Given the description of an element on the screen output the (x, y) to click on. 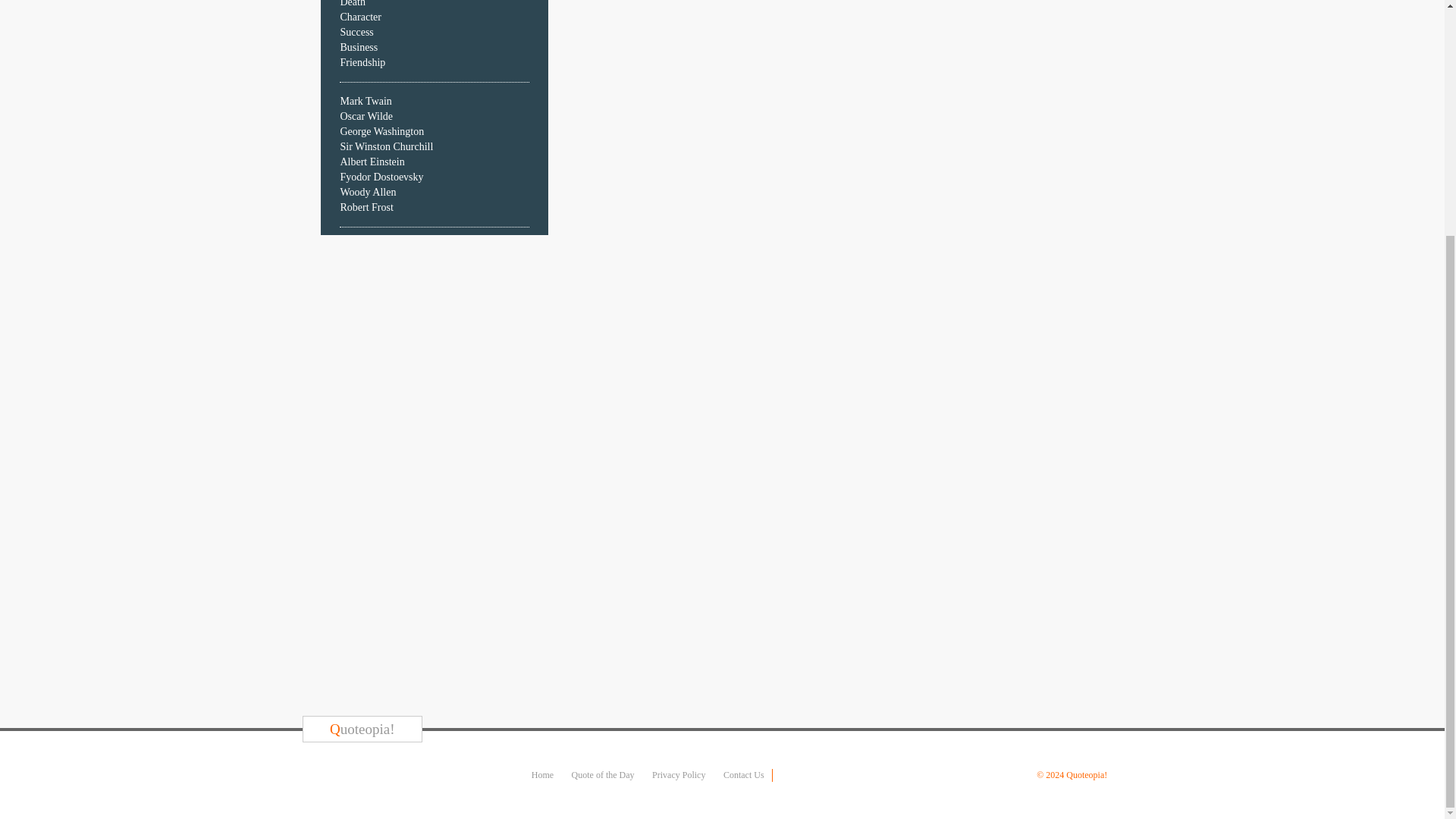
Oscar Wilde Quotes (366, 116)
Success (355, 31)
Fyodor Dostoevsky Quotes (381, 176)
Success Quotes (355, 31)
Character Quotes (359, 16)
Friendship Quotes (362, 61)
Sir Winston Churchill Quotes (385, 146)
Albert Einstein Quotes (371, 161)
Mark Twain Quotes (365, 101)
Death (352, 3)
Death Quotes (352, 3)
Business Quotes (358, 47)
Character (359, 16)
George Washington Quotes (381, 131)
